Given the description of an element on the screen output the (x, y) to click on. 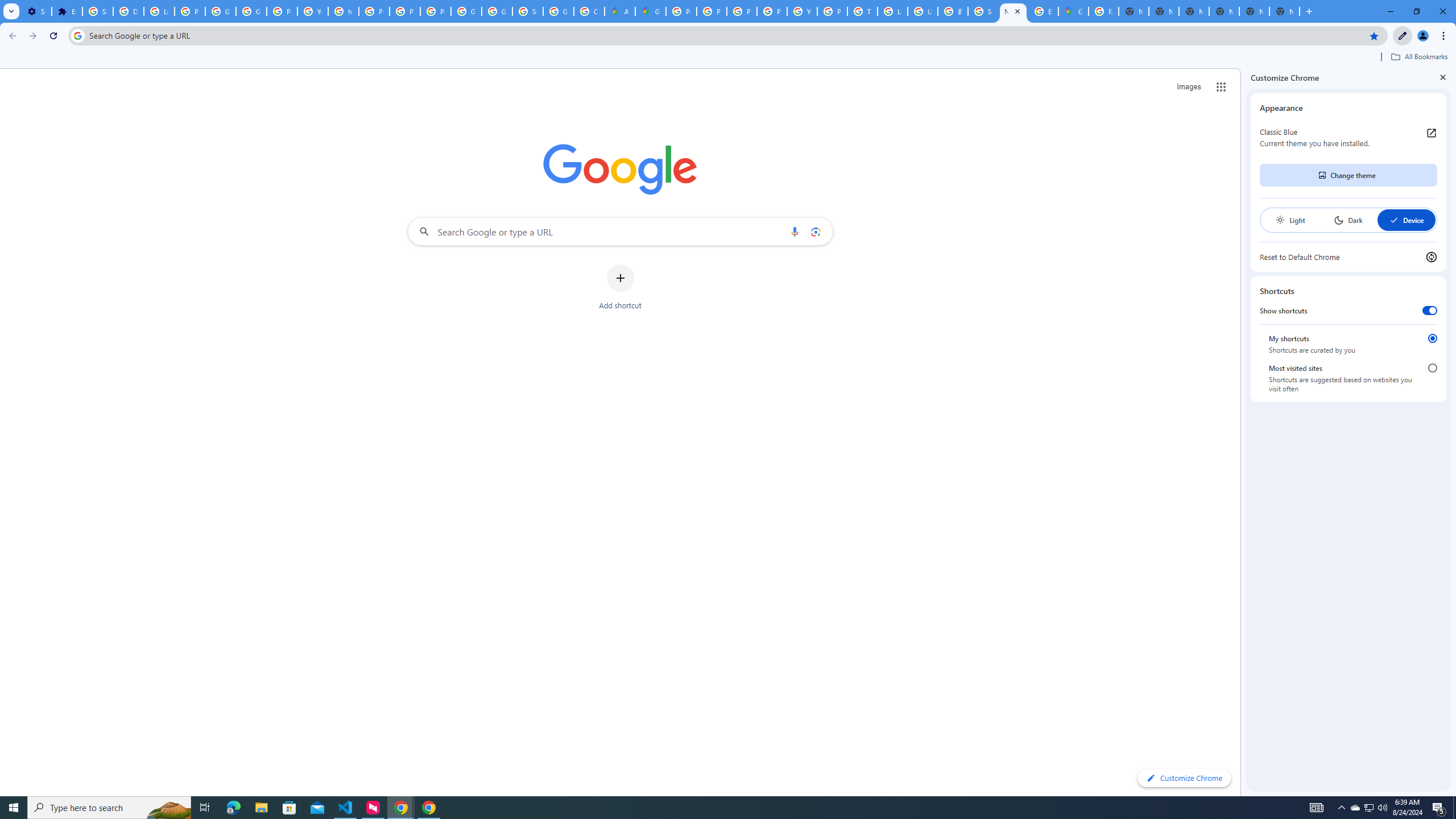
Google Maps (1072, 11)
Sign in - Google Accounts (982, 11)
Sign in - Google Accounts (97, 11)
Device (1406, 219)
Privacy Help Center - Policies Help (711, 11)
Dark (1348, 219)
